Given the description of an element on the screen output the (x, y) to click on. 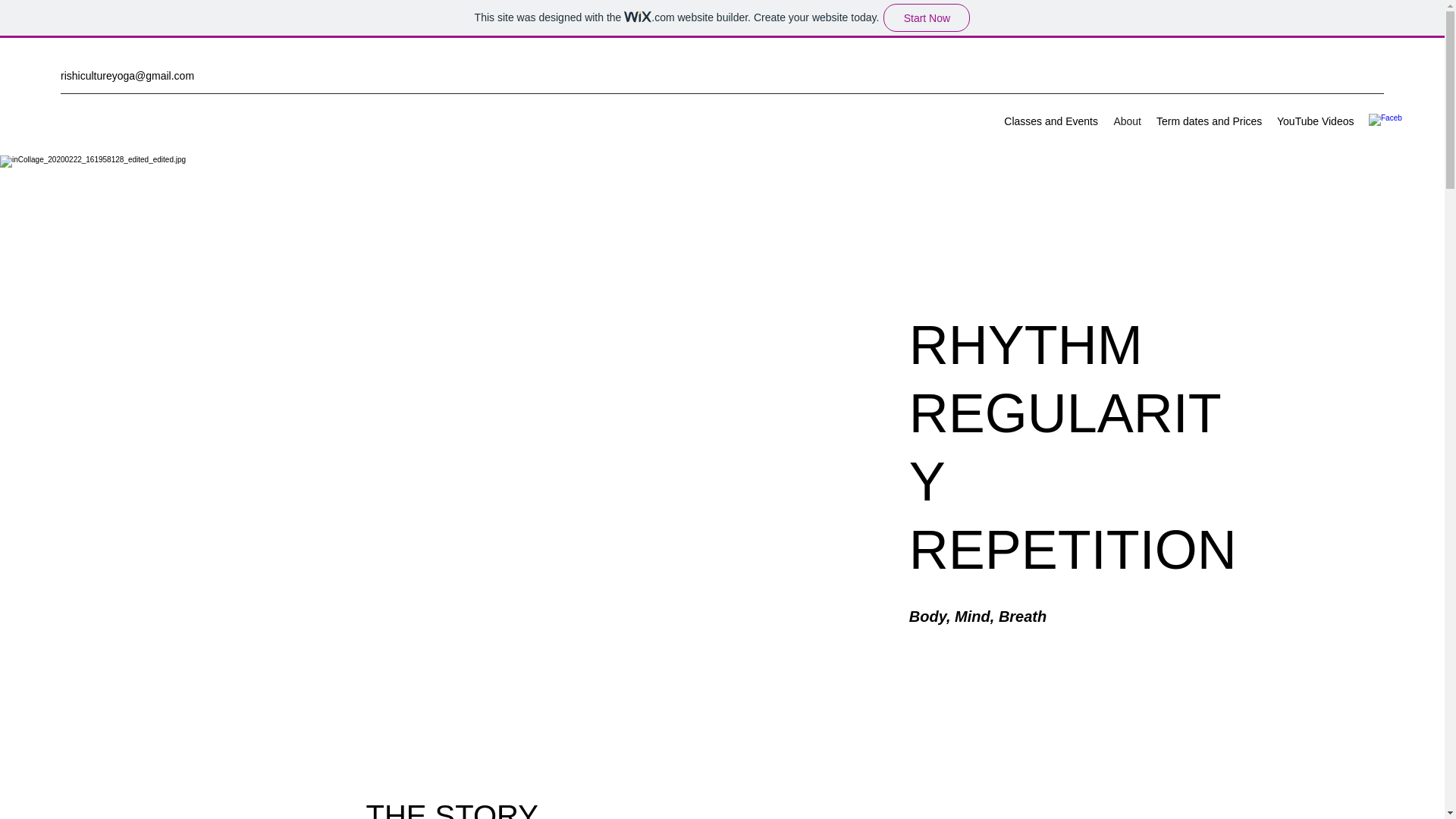
Classes and Events (1050, 120)
Term dates and Prices (1208, 120)
YouTube Videos (1315, 120)
About (1126, 120)
